Given the description of an element on the screen output the (x, y) to click on. 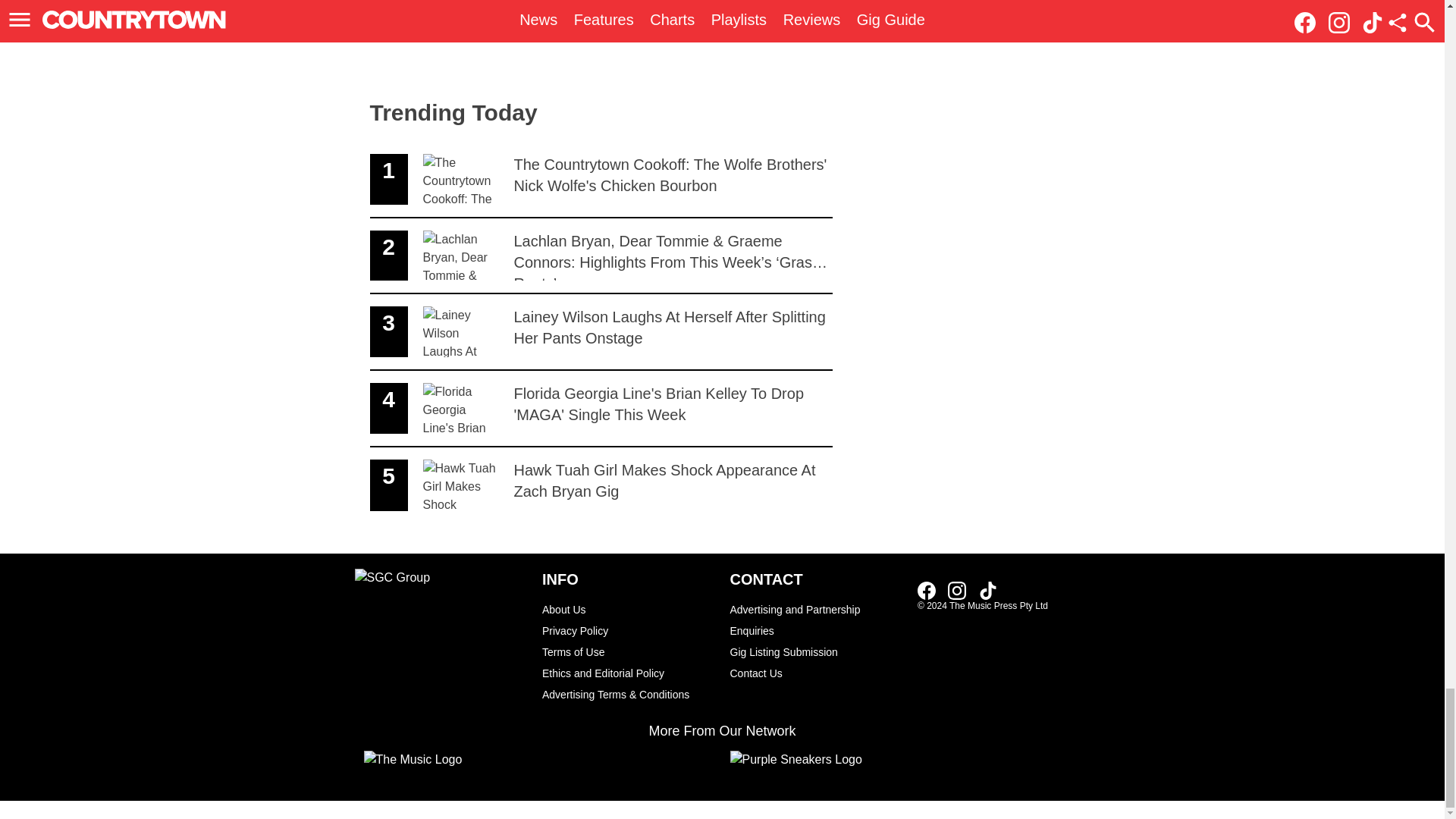
Link to our Facebook (930, 589)
Terms of Use (627, 651)
Link to our Facebook (600, 485)
Ethics and Editorial Policy (926, 590)
Link to our Instagram (627, 672)
Link to our TikTok (956, 590)
Contact Us (987, 590)
Advertising and Partnership Enquiries (815, 672)
Link to our TikTok (815, 619)
Privacy Policy (987, 589)
About Us (627, 630)
